Given the description of an element on the screen output the (x, y) to click on. 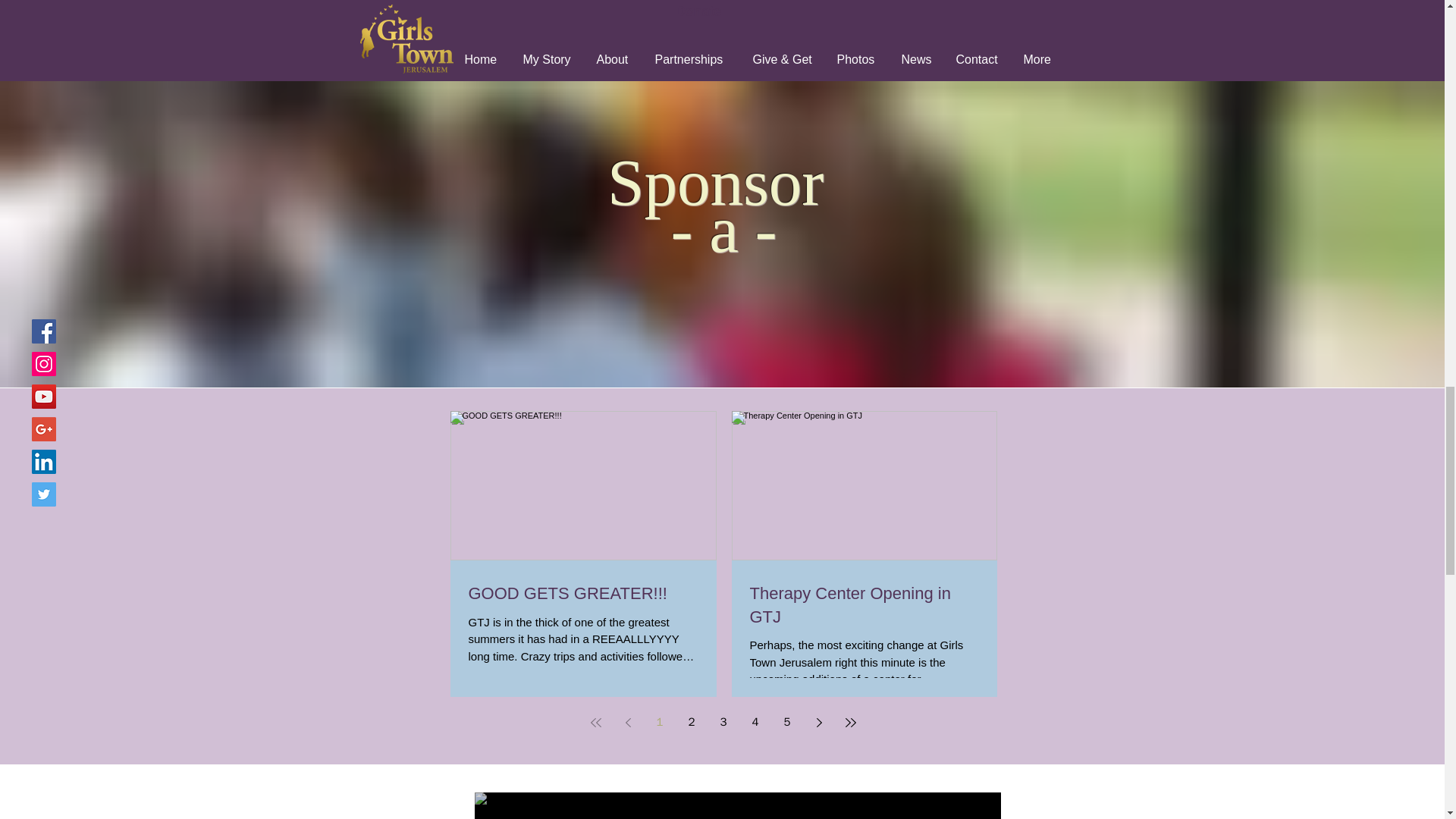
5 (786, 722)
4 (754, 722)
3 (723, 722)
Therapy Center Opening in GTJ (863, 605)
GOOD GETS GREATER!!! (583, 594)
2 (691, 722)
